Given the description of an element on the screen output the (x, y) to click on. 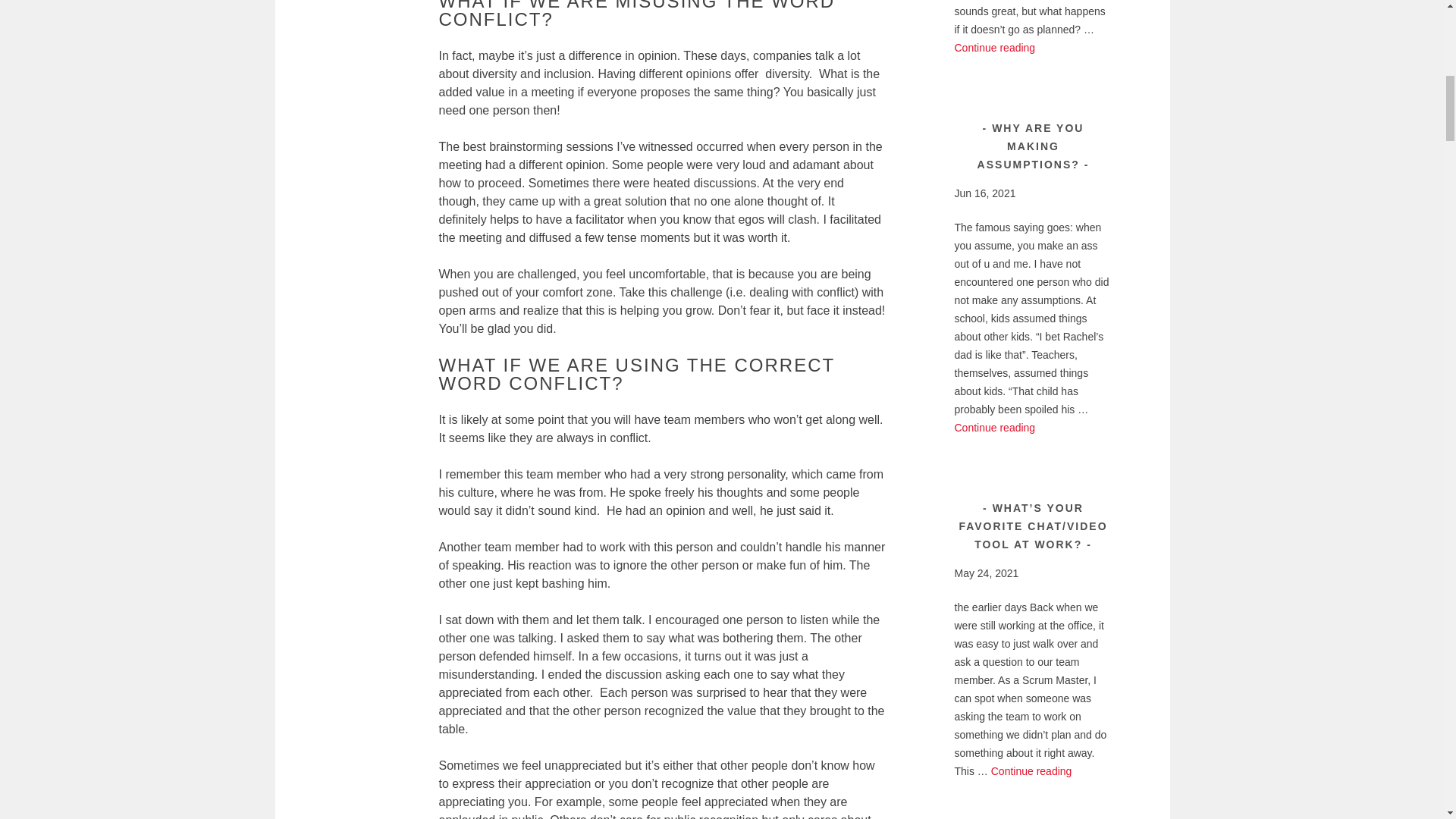
WHY ARE YOU MAKING ASSUMPTIONS? (994, 427)
